Given the description of an element on the screen output the (x, y) to click on. 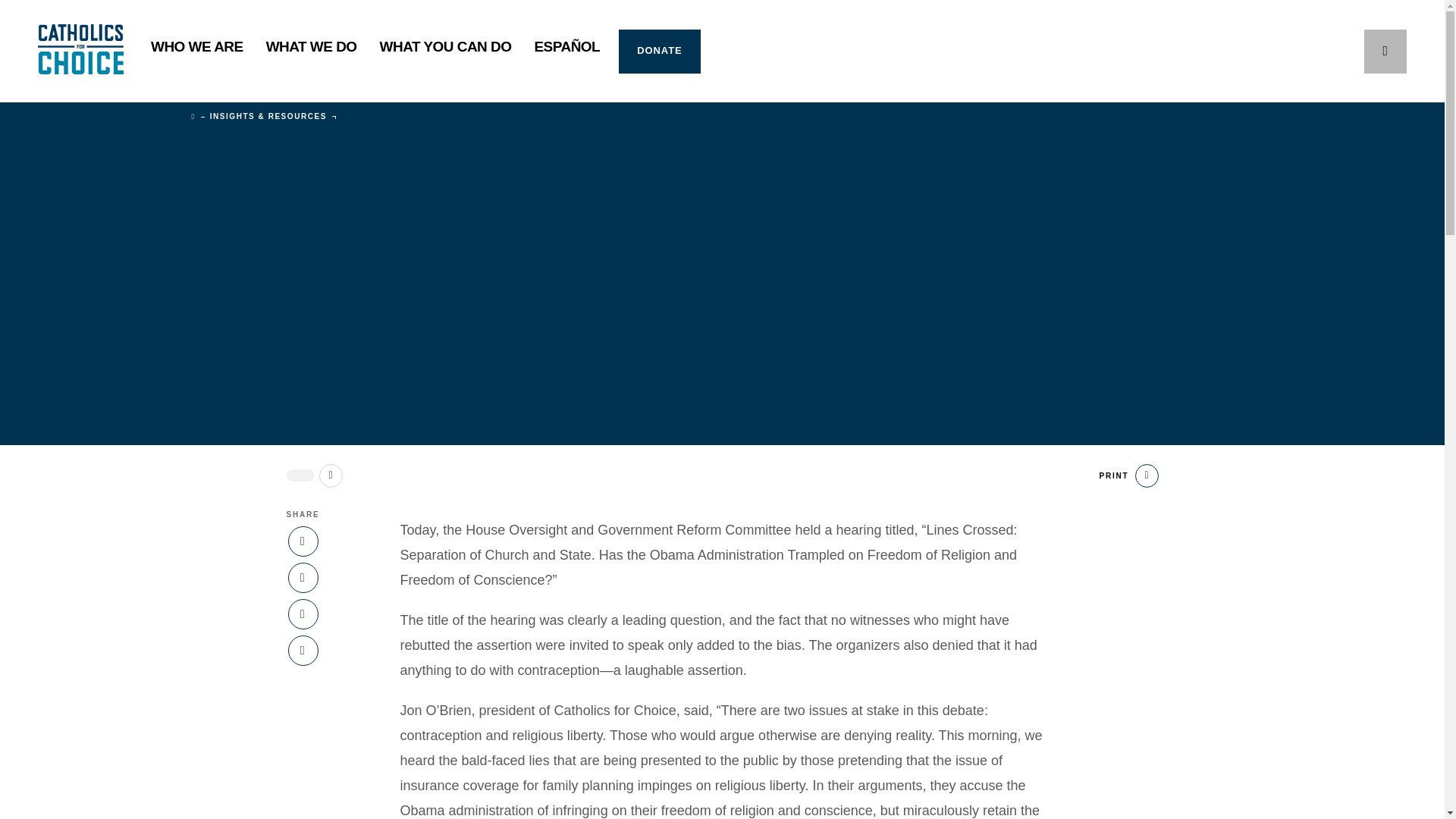
WHO WE ARE (197, 51)
Jump to all Issues (330, 475)
WHAT WE DO (311, 51)
